Given the description of an element on the screen output the (x, y) to click on. 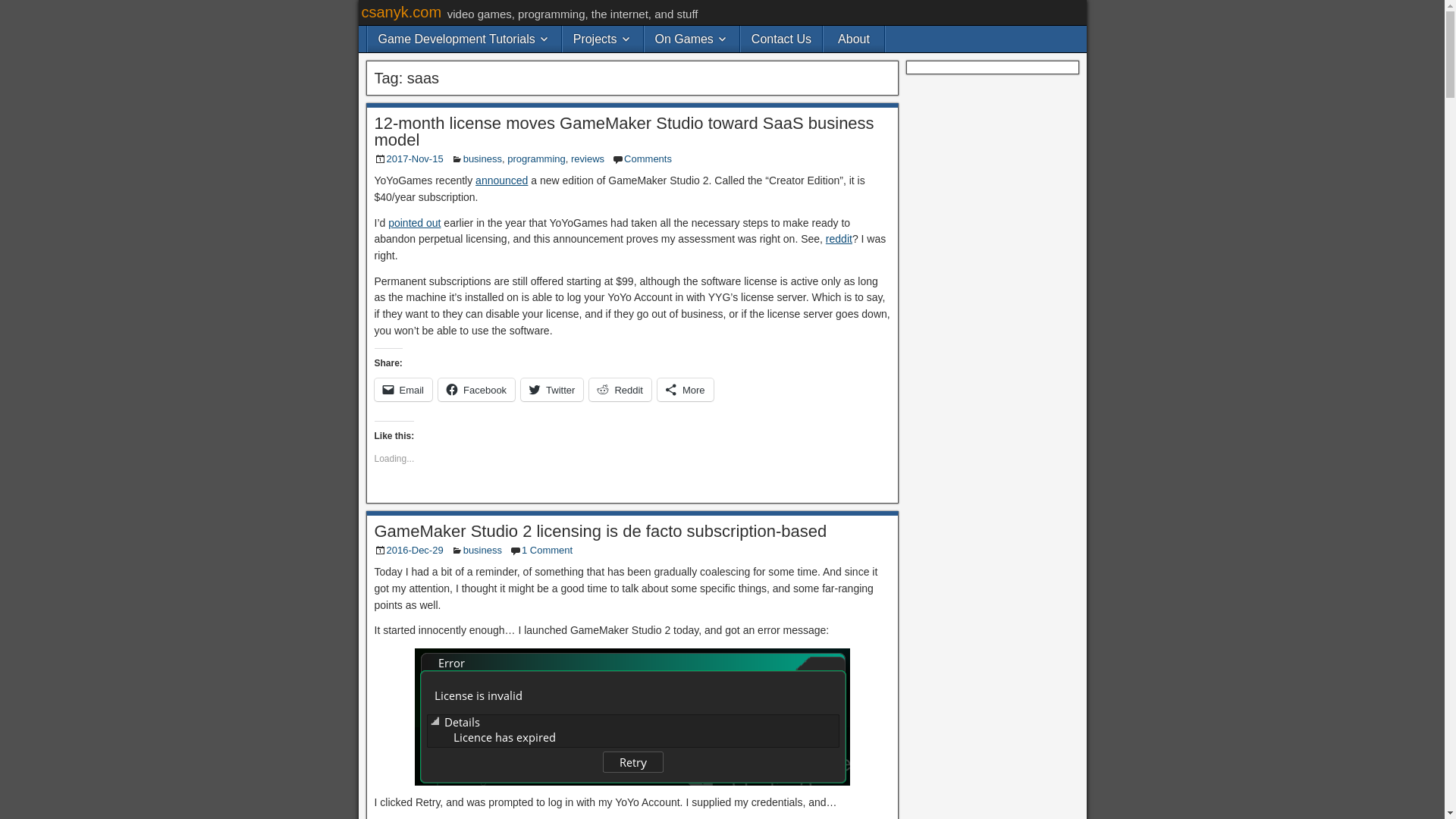
Game Development Tutorials (463, 38)
Click to email a link to a friend (403, 389)
Click to share on Facebook (476, 389)
Click to share on Twitter (552, 389)
Projects (602, 38)
csanyk.com (401, 12)
Click to share on Reddit (619, 389)
